Given the description of an element on the screen output the (x, y) to click on. 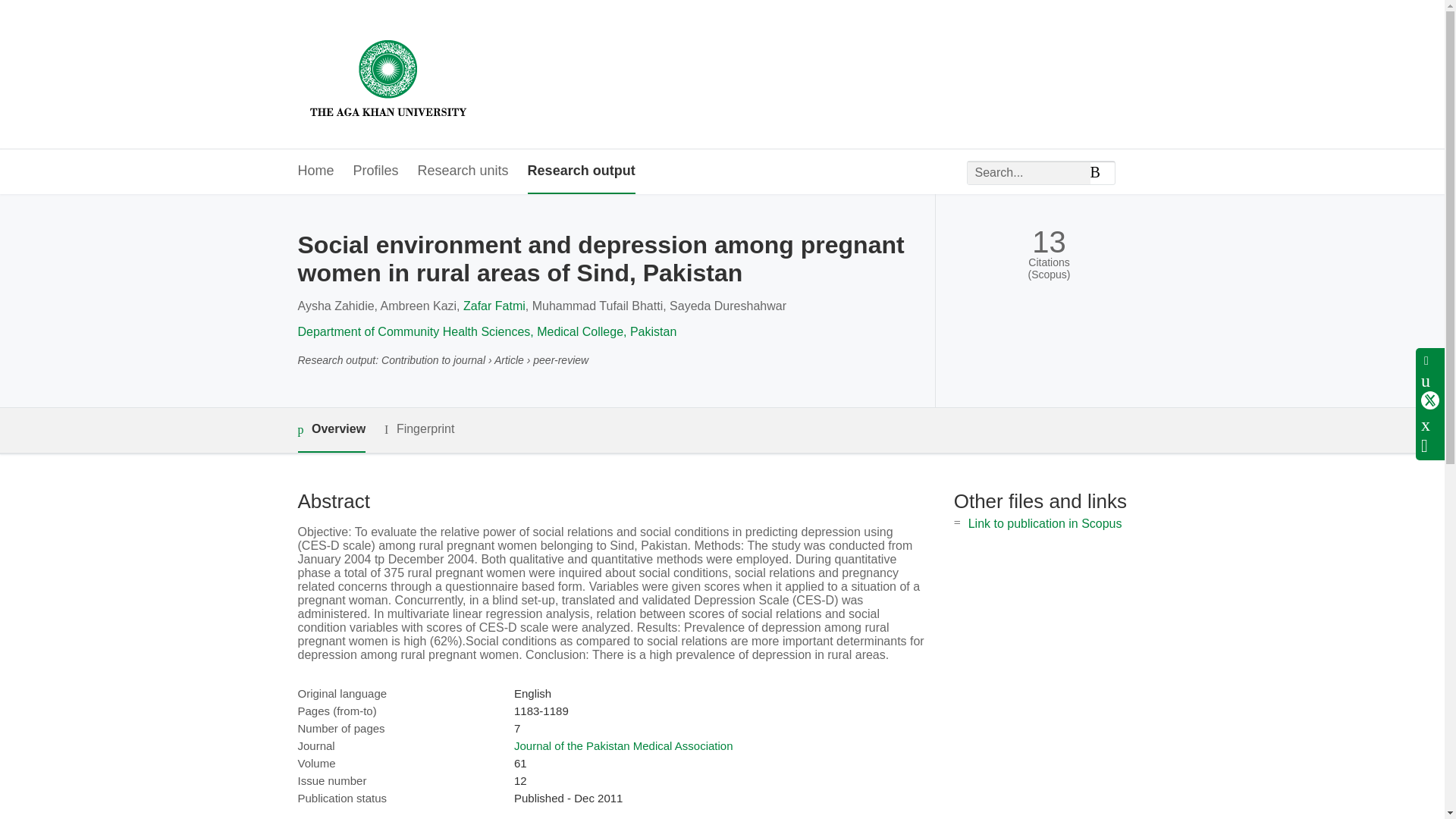
The Aga Khan University Home (388, 74)
Research output (580, 171)
Link to publication in Scopus (1045, 522)
Overview (331, 429)
Zafar Fatmi (494, 305)
Research units (462, 171)
Profiles (375, 171)
Journal of the Pakistan Medical Association (623, 745)
Fingerprint (419, 429)
